Given the description of an element on the screen output the (x, y) to click on. 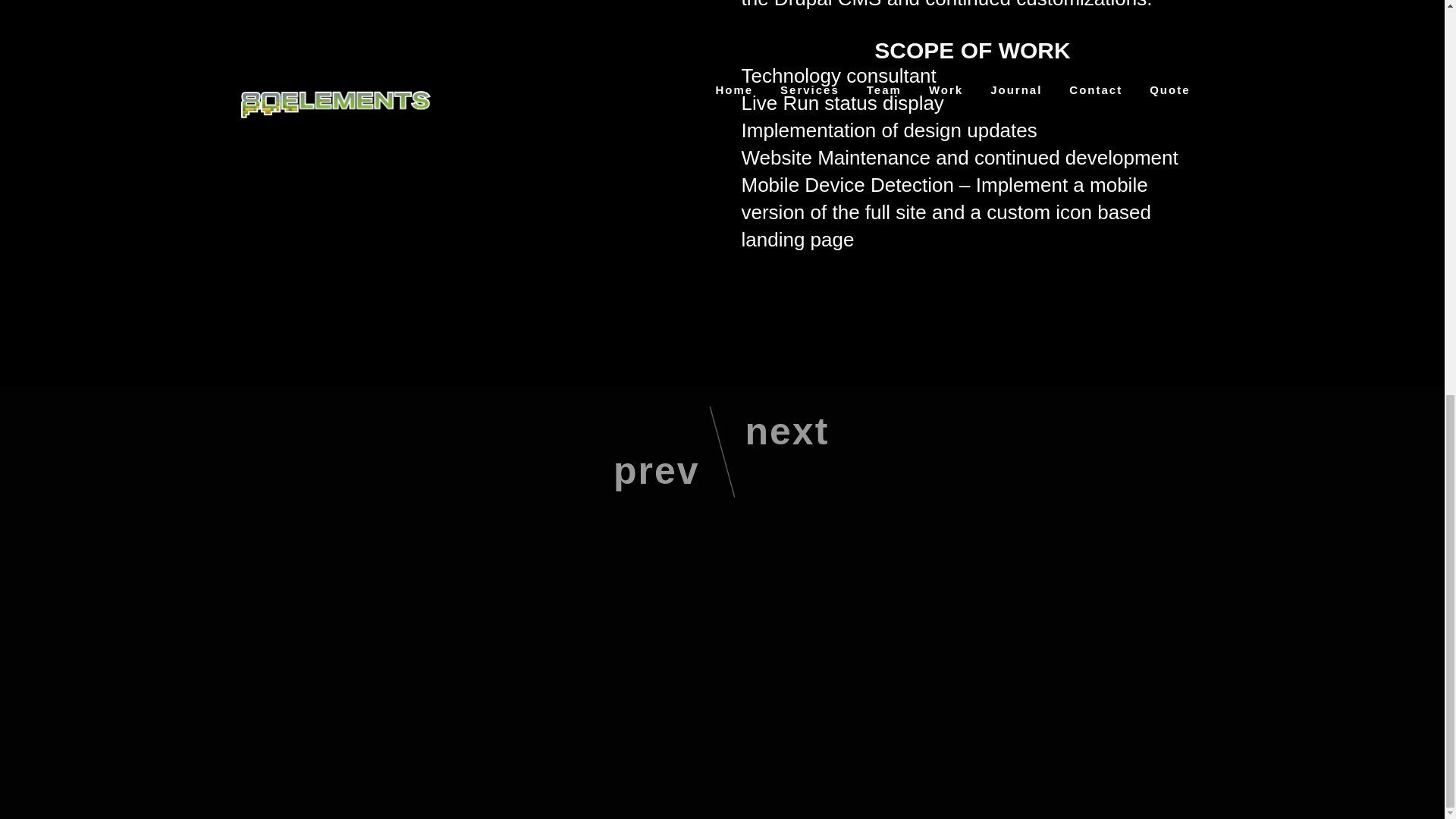
prev (632, 412)
next (811, 489)
